Given the description of an element on the screen output the (x, y) to click on. 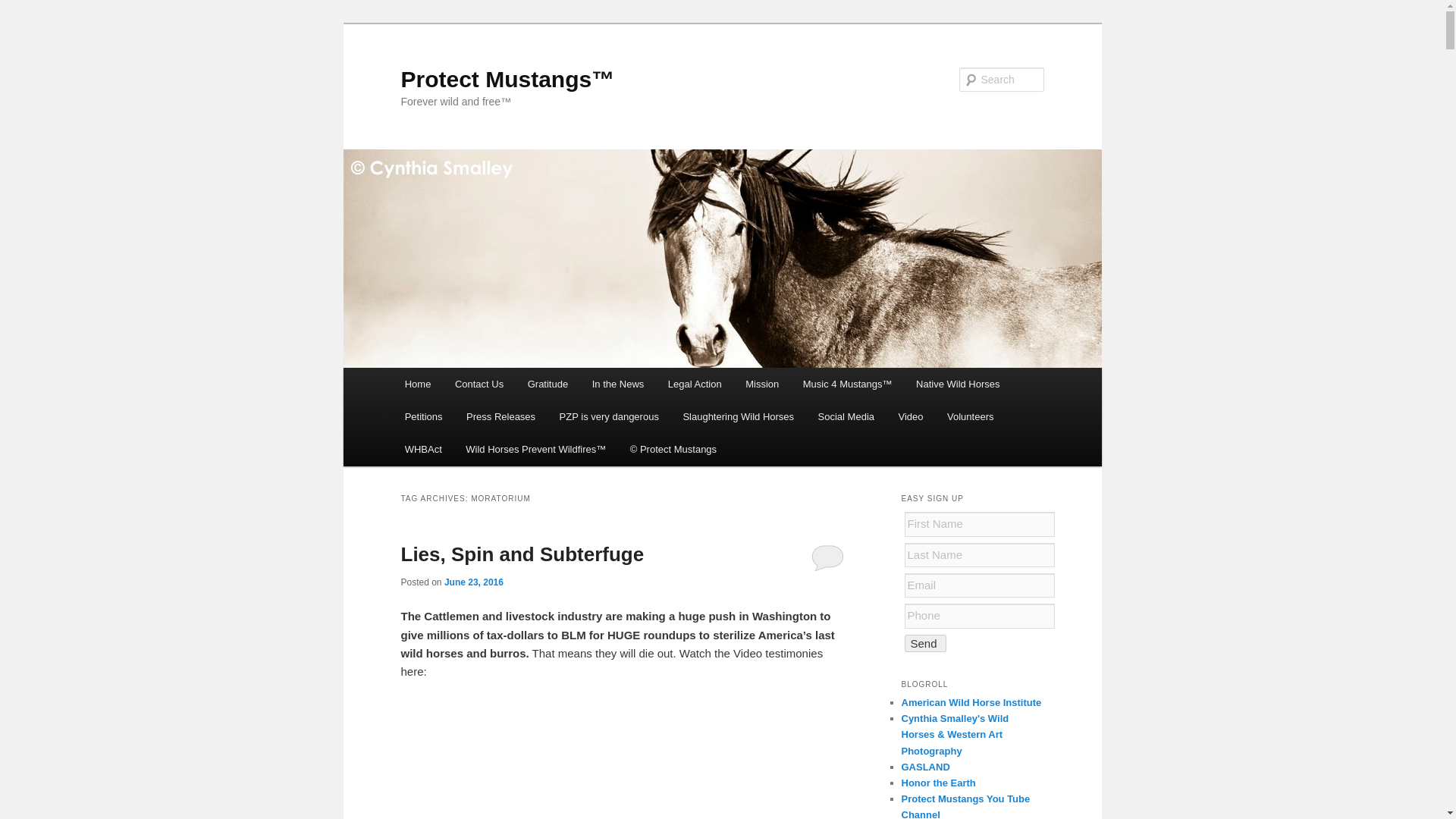
June 23, 2016 (473, 582)
Slaughtering Wild Horses (738, 416)
Mission (761, 383)
Petitions (423, 416)
Social Media (846, 416)
Send  (924, 642)
WHBAct (423, 449)
Gratitude (547, 383)
Search (24, 8)
Video (911, 416)
In the News (617, 383)
Legal Action (694, 383)
Lies, Spin and Subterfuge (521, 553)
Volunteers (970, 416)
